Given the description of an element on the screen output the (x, y) to click on. 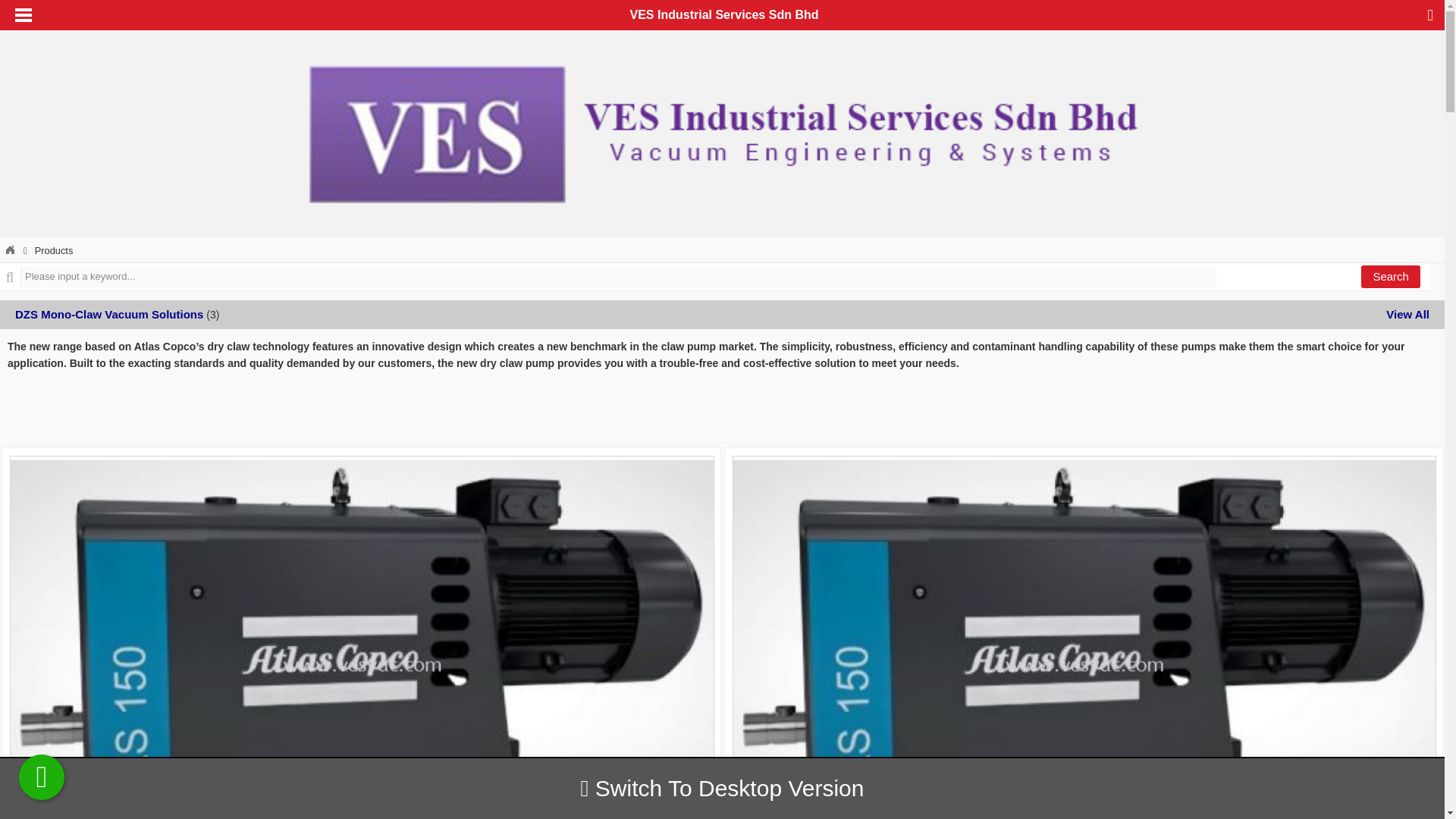
Search (1391, 276)
View All (1407, 314)
Home (10, 250)
DZS Mono-Claw Vacuum Solutions (108, 314)
